Given the description of an element on the screen output the (x, y) to click on. 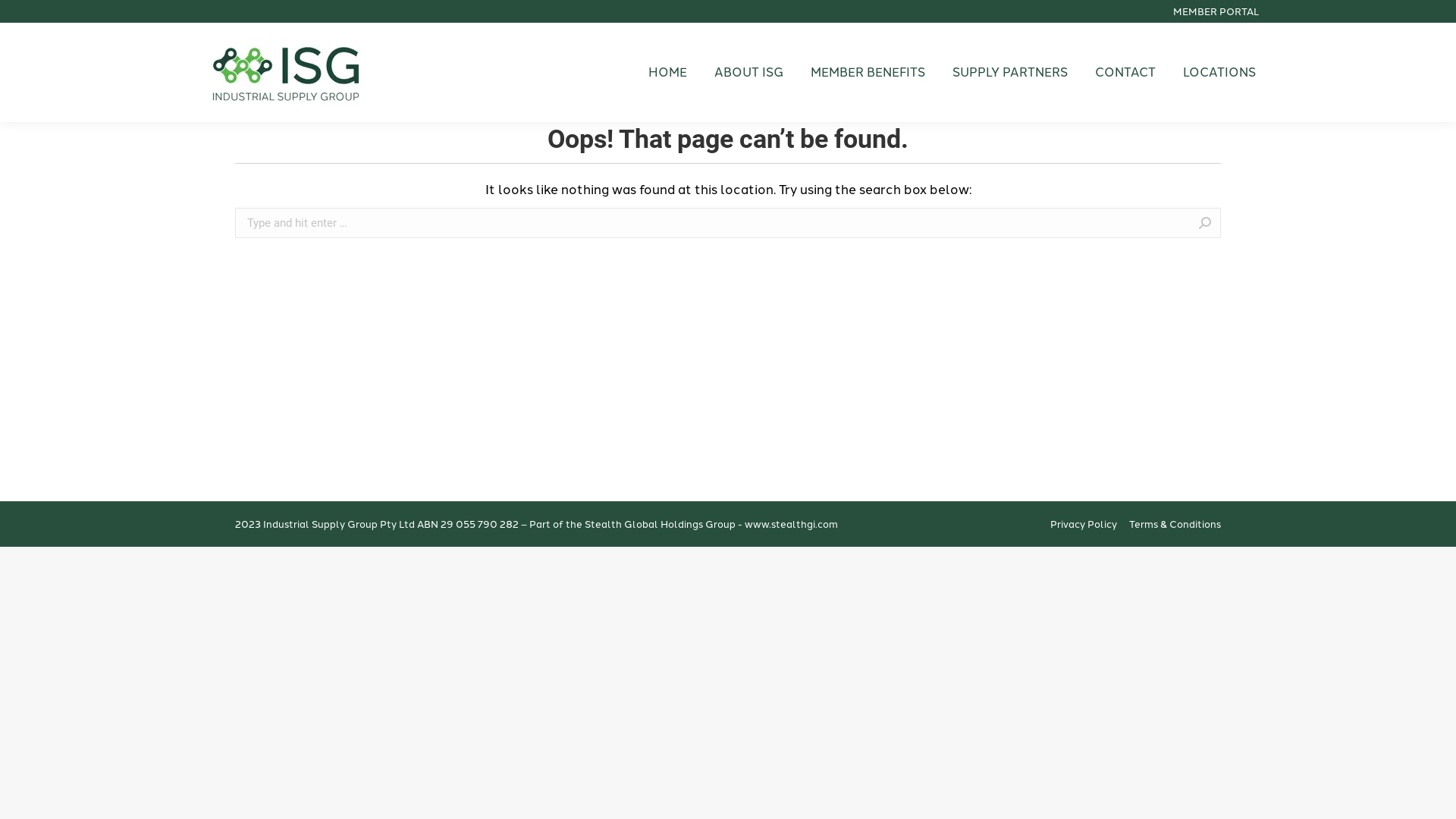
HOME Element type: text (667, 72)
SUPPLY PARTNERS Element type: text (1009, 72)
MEMBER PORTAL Element type: text (1215, 11)
ABOUT ISG Element type: text (748, 72)
Go! Element type: text (1243, 224)
Terms & Conditions Element type: text (1174, 523)
www.stealthgi.com Element type: text (790, 524)
LOCATIONS Element type: text (1218, 72)
MEMBER BENEFITS Element type: text (867, 72)
Privacy Policy Element type: text (1083, 523)
CONTACT Element type: text (1125, 72)
